Given the description of an element on the screen output the (x, y) to click on. 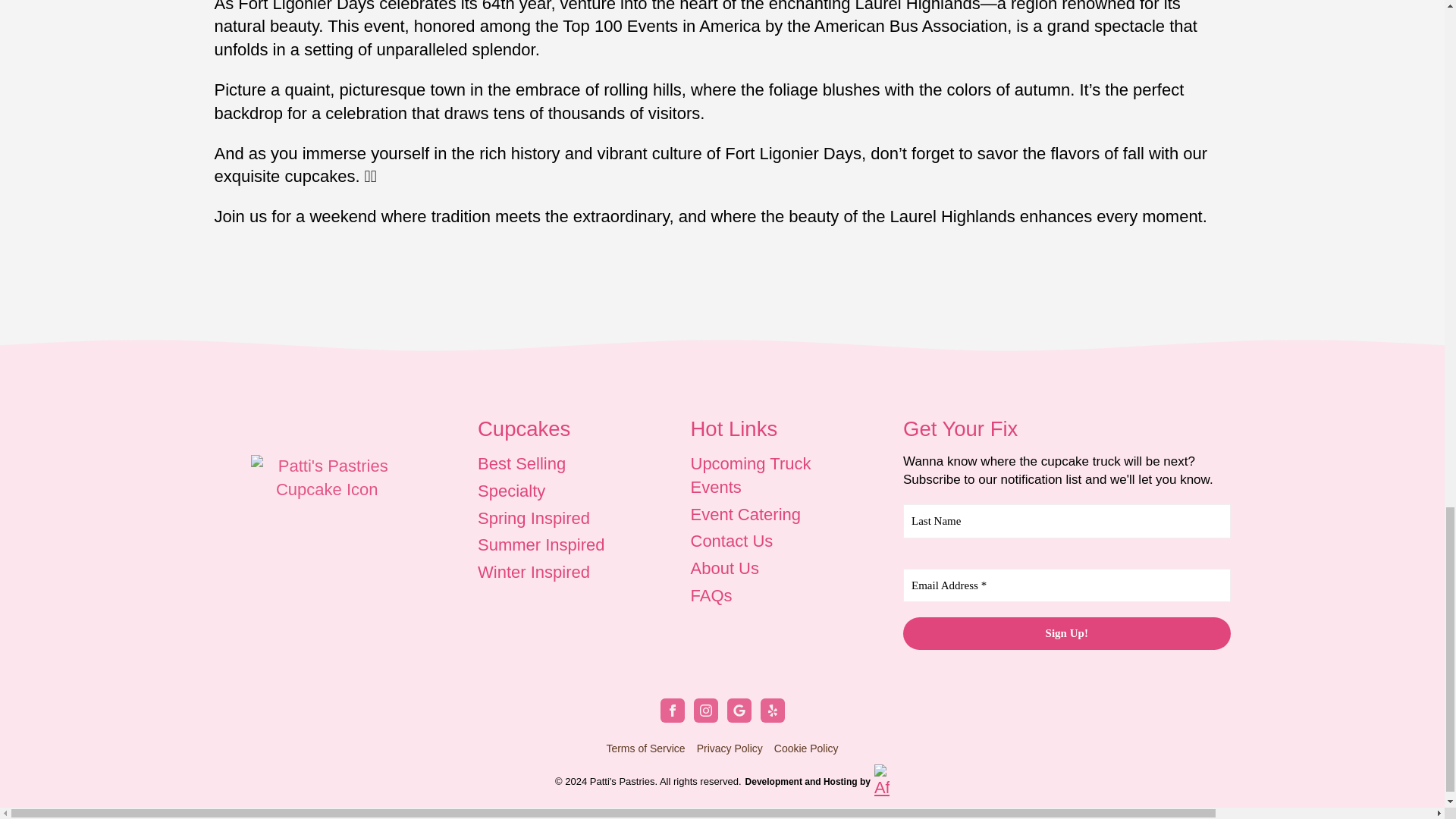
Last Name (1066, 521)
Sign Up! (1066, 633)
Email Address (1066, 584)
